Given the description of an element on the screen output the (x, y) to click on. 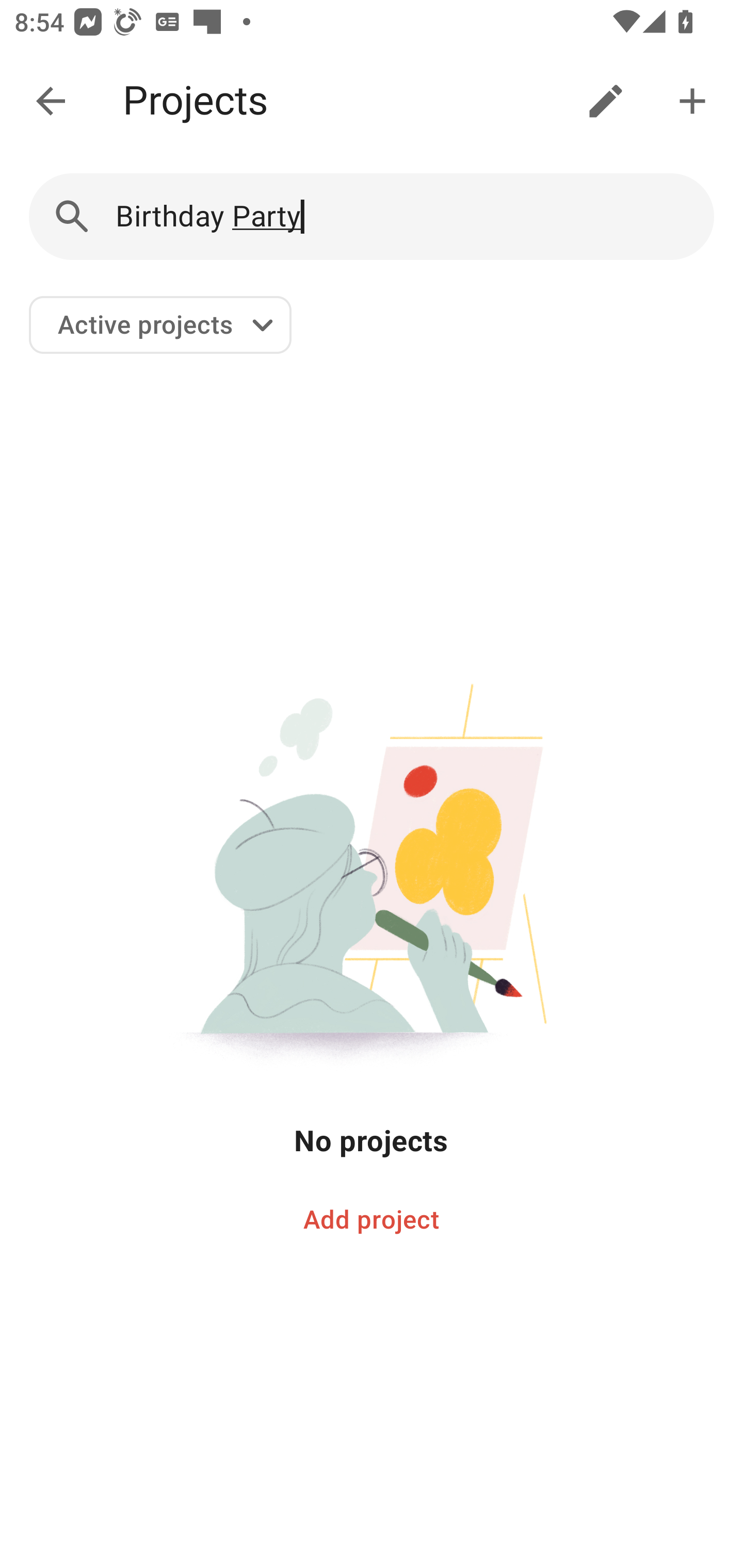
Back (50, 101)
Manage (605, 101)
Add (692, 101)
Birthday Party Search (371, 217)
Active projects (159, 325)
Add project (371, 1219)
